Given the description of an element on the screen output the (x, y) to click on. 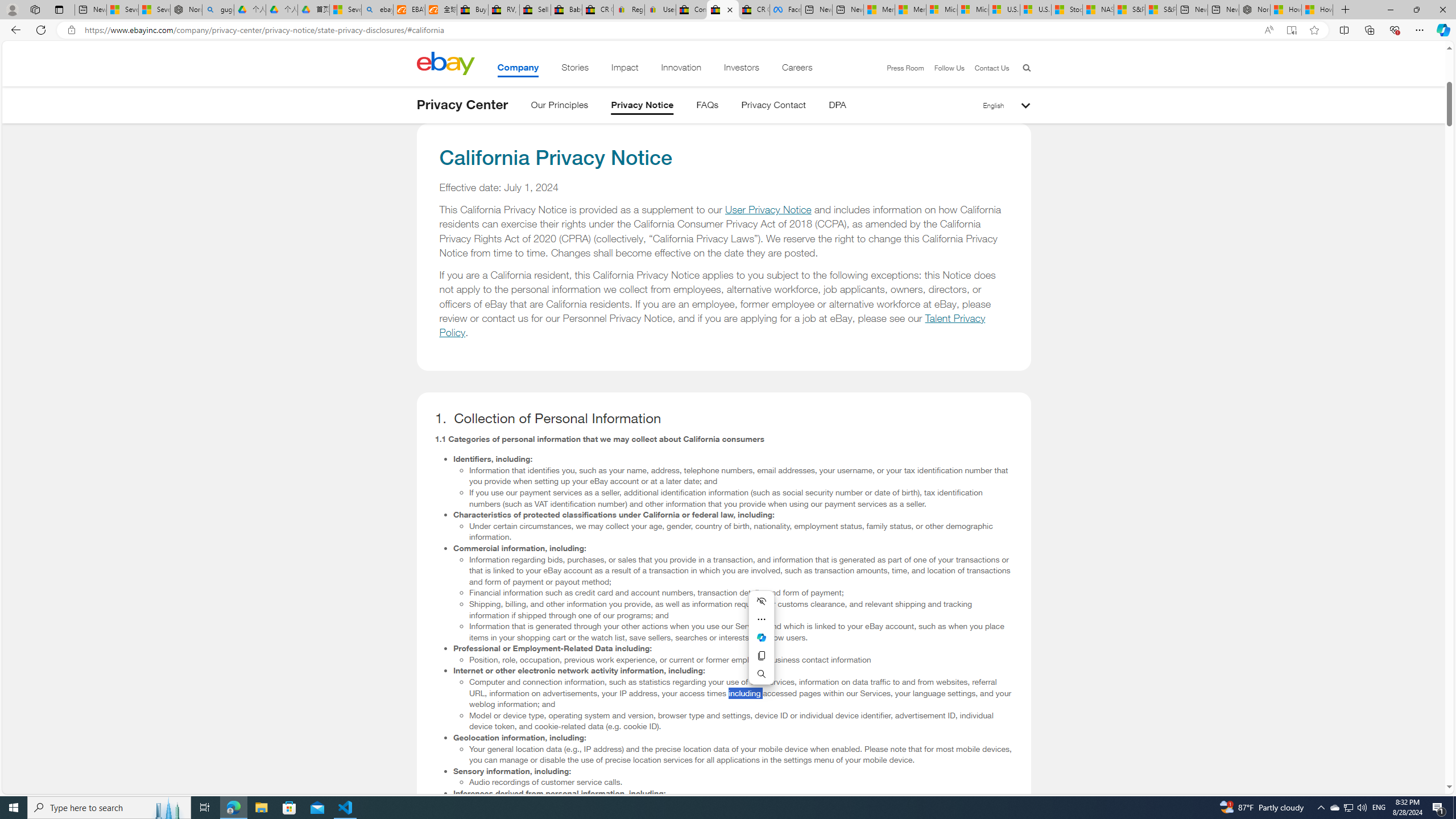
Privacy Notice (642, 107)
Enter Immersive Reader (F9) (1291, 29)
Mini menu on text selection (761, 637)
Hide menu (761, 601)
User Privacy Notice (767, 209)
Sell worldwide with eBay (535, 9)
Mini menu on text selection (761, 644)
RV, Trailer & Camper Steps & Ladders for sale | eBay (503, 9)
